Given the description of an element on the screen output the (x, y) to click on. 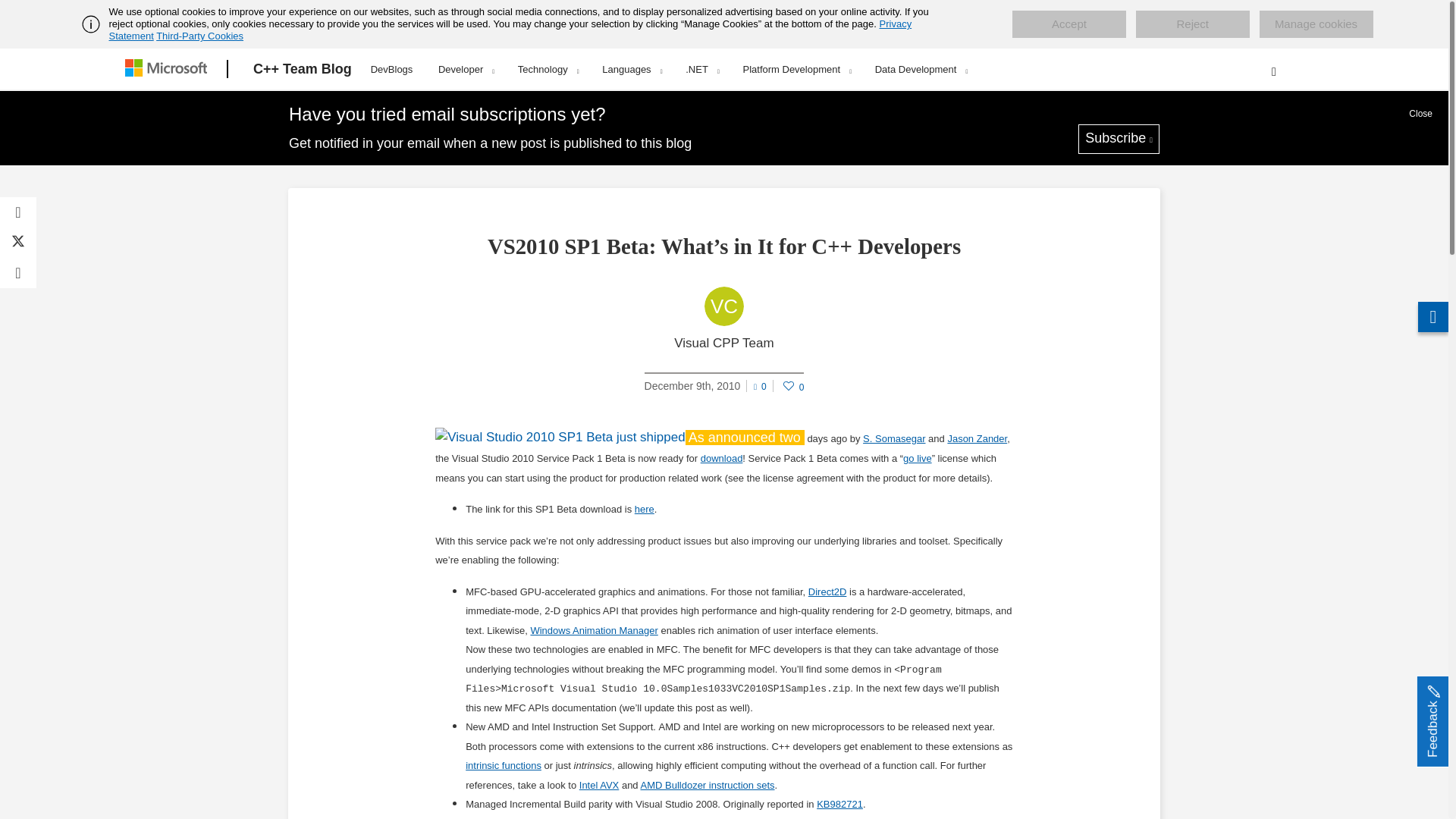
Share on LinkedIn (18, 272)
Manage cookies (1316, 23)
Technology (548, 69)
Privacy Statement (510, 29)
Languages (631, 69)
Share on Facebook (18, 212)
Reject (1192, 23)
Share on Twitter (18, 242)
Visual Studio 2010 SP1 Beta just shipped (559, 437)
Developer (465, 69)
